Given the description of an element on the screen output the (x, y) to click on. 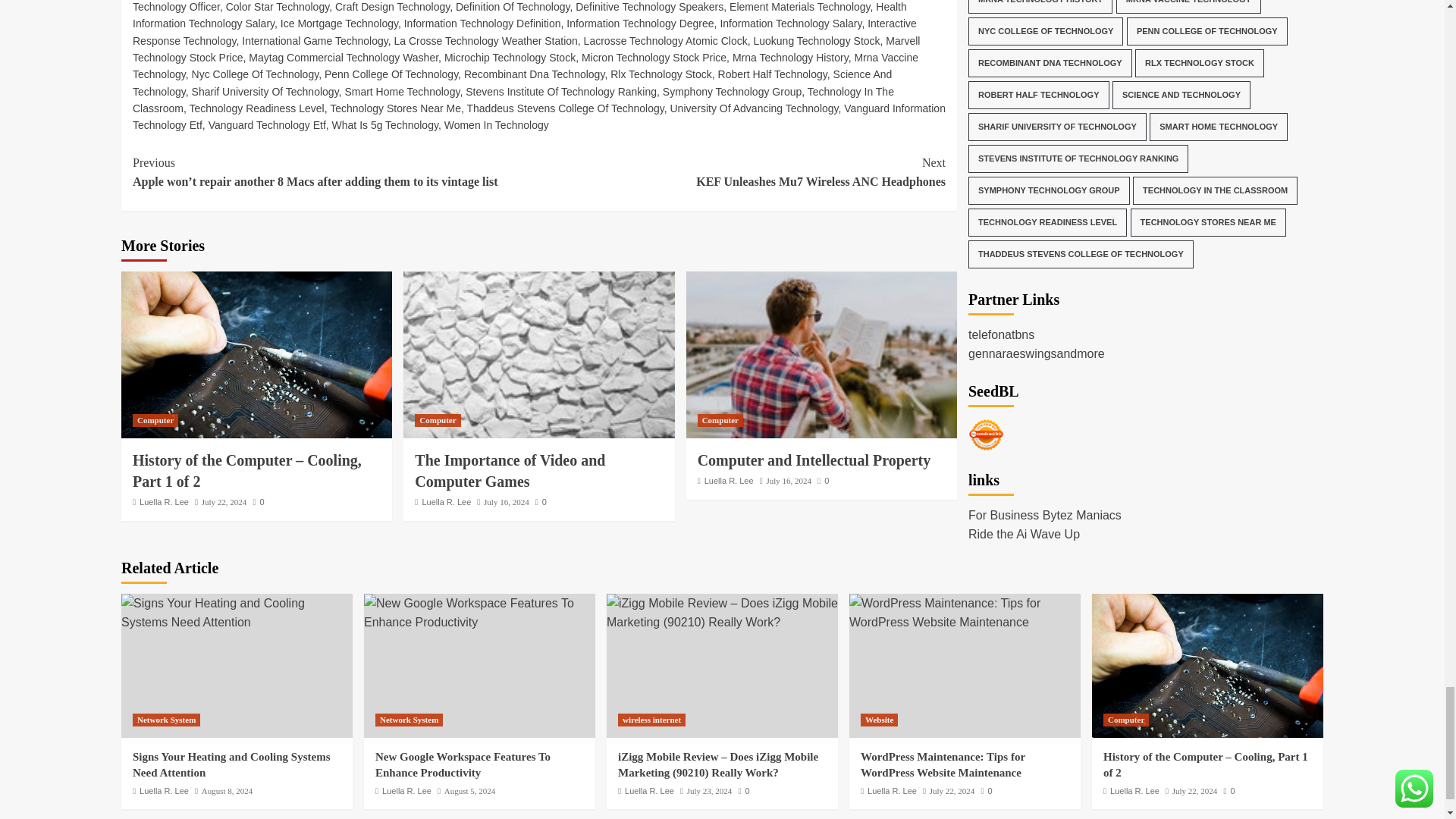
Chief Technology Officer (533, 6)
Computer and Intellectual Property (820, 354)
The Importance of Video and Computer Games (538, 354)
